Given the description of an element on the screen output the (x, y) to click on. 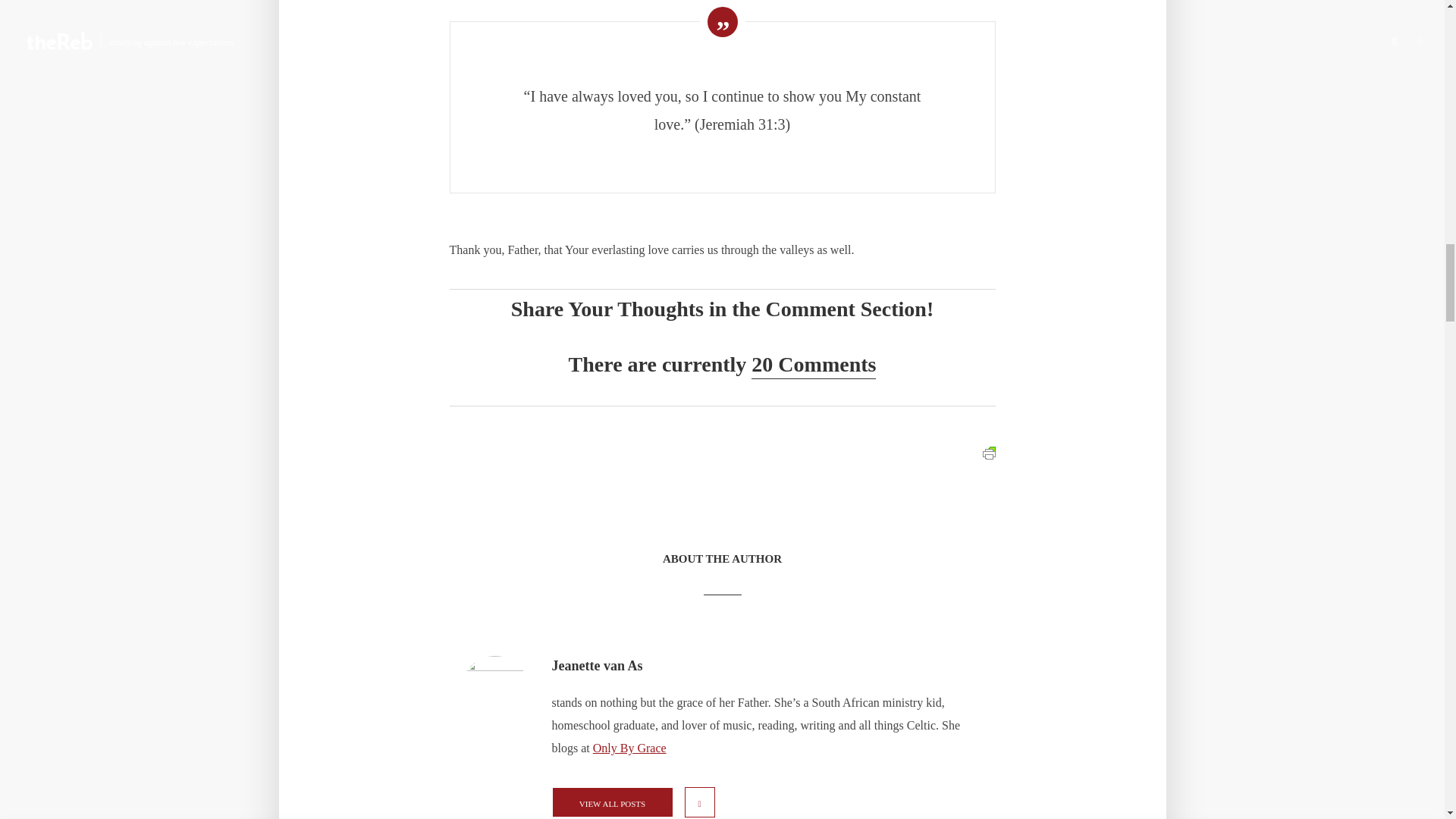
Only By Grace (629, 748)
20 Comments (813, 365)
VIEW ALL POSTS (611, 802)
